Given the description of an element on the screen output the (x, y) to click on. 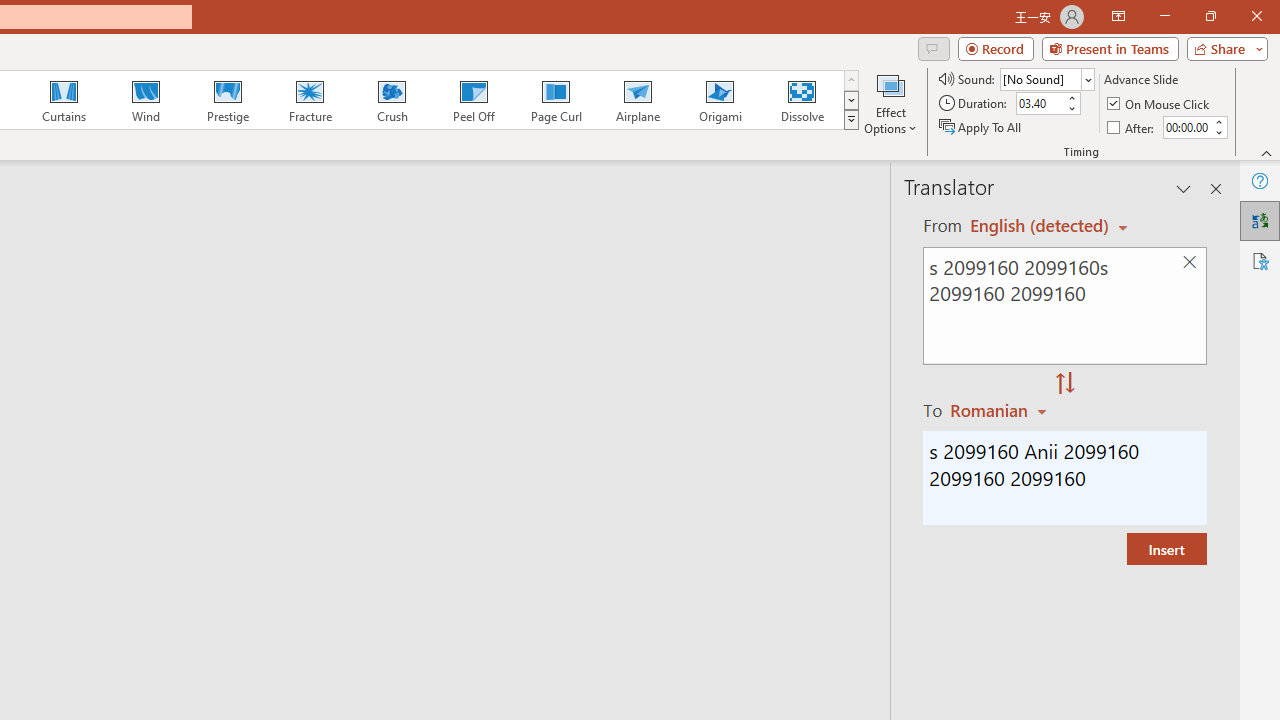
After (1131, 126)
Transition Effects (850, 120)
Clear text (1189, 262)
Apply To All (981, 126)
Romanian (1001, 409)
